Given the description of an element on the screen output the (x, y) to click on. 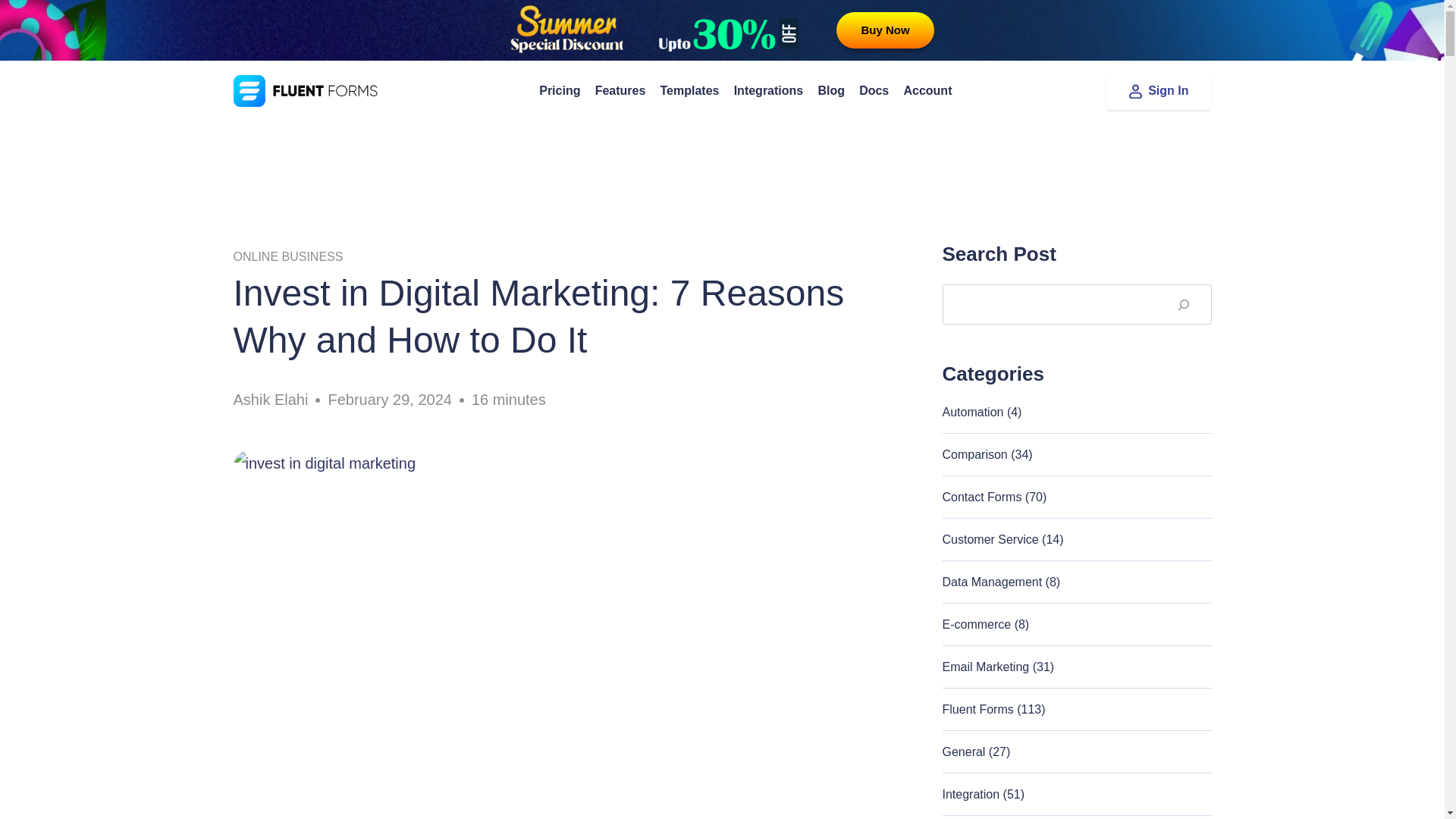
ONLINE BUSINESS (287, 256)
Templates (689, 90)
Integrations (768, 90)
Sign In (1158, 90)
Blog (830, 90)
Features (620, 90)
Docs (873, 90)
Ashik Elahi (270, 399)
Buy Now (884, 30)
Pricing (560, 90)
